Given the description of an element on the screen output the (x, y) to click on. 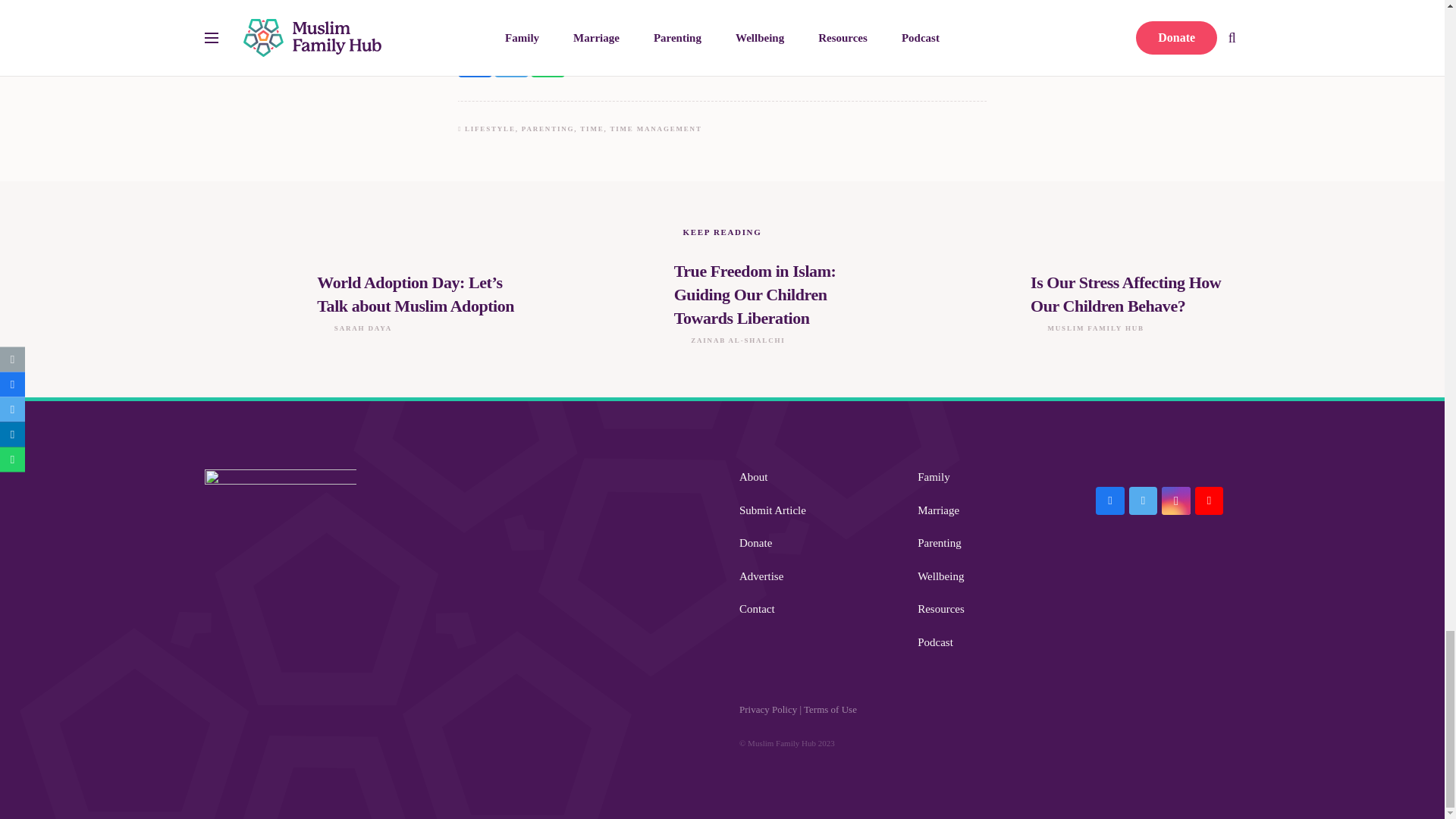
Share this (475, 65)
Share this (547, 65)
Tweet this (511, 65)
